Given the description of an element on the screen output the (x, y) to click on. 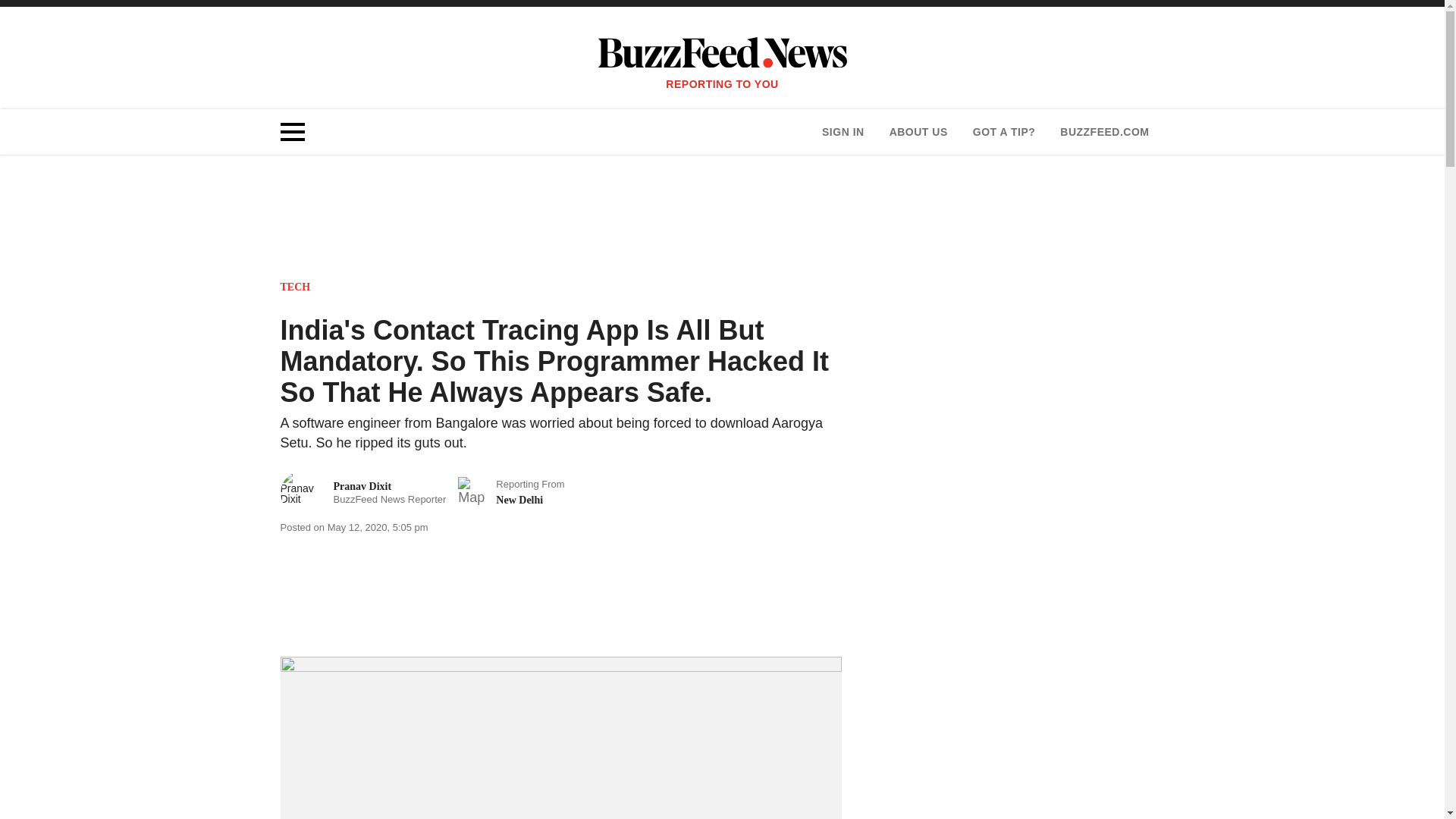
GOT A TIP? (363, 492)
SIGN IN (1003, 131)
ABOUT US (842, 131)
TECH (917, 131)
BUZZFEED.COM (296, 286)
